Given the description of an element on the screen output the (x, y) to click on. 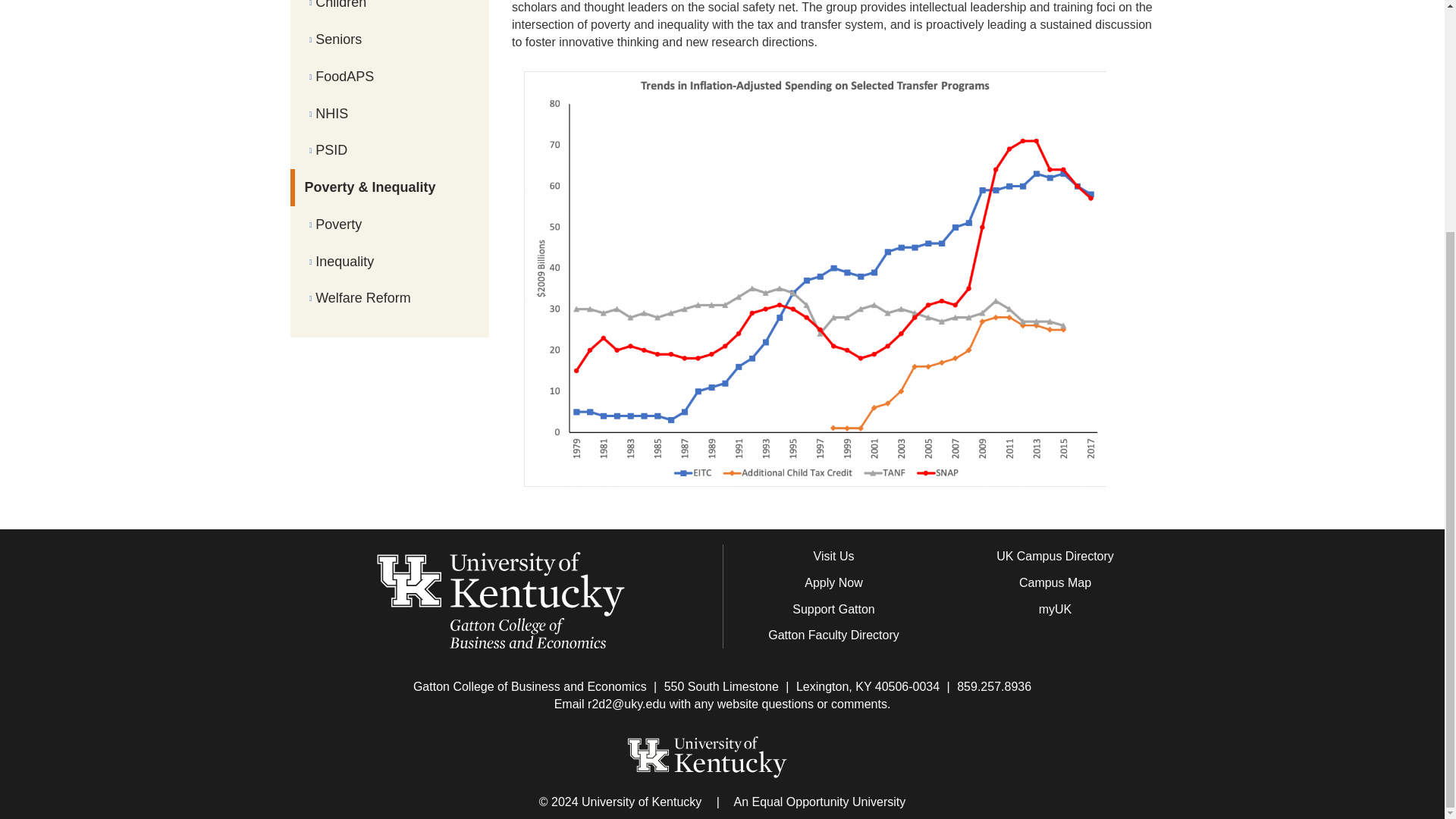
Children (389, 10)
Inequality (389, 261)
FoodAPS (389, 76)
NHIS (389, 113)
Seniors (389, 39)
Welfare Reform (389, 298)
Poverty (389, 224)
PSID (389, 149)
